Given the description of an element on the screen output the (x, y) to click on. 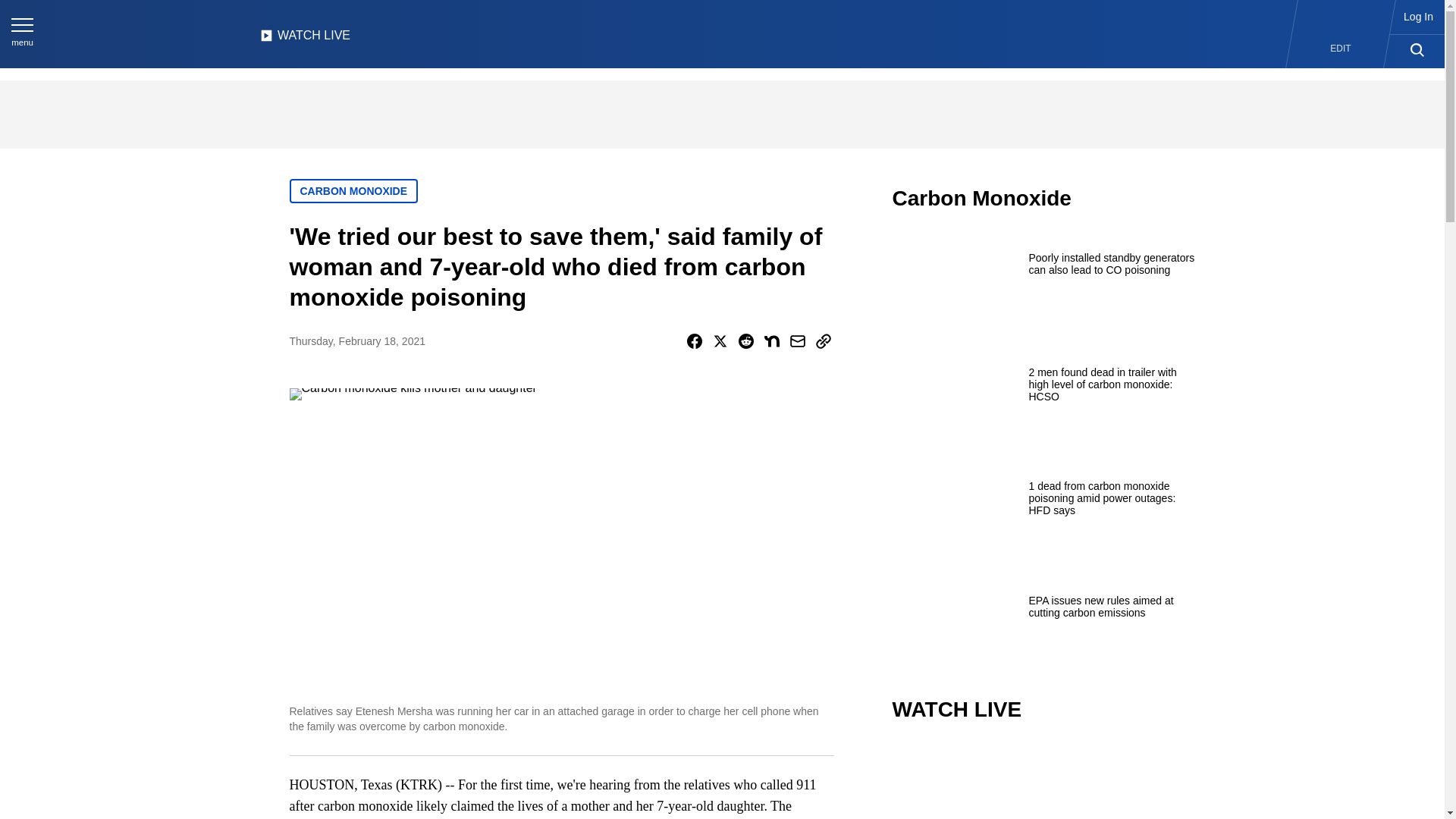
EDIT (1340, 48)
video.title (1043, 781)
WATCH LIVE (305, 39)
